Given the description of an element on the screen output the (x, y) to click on. 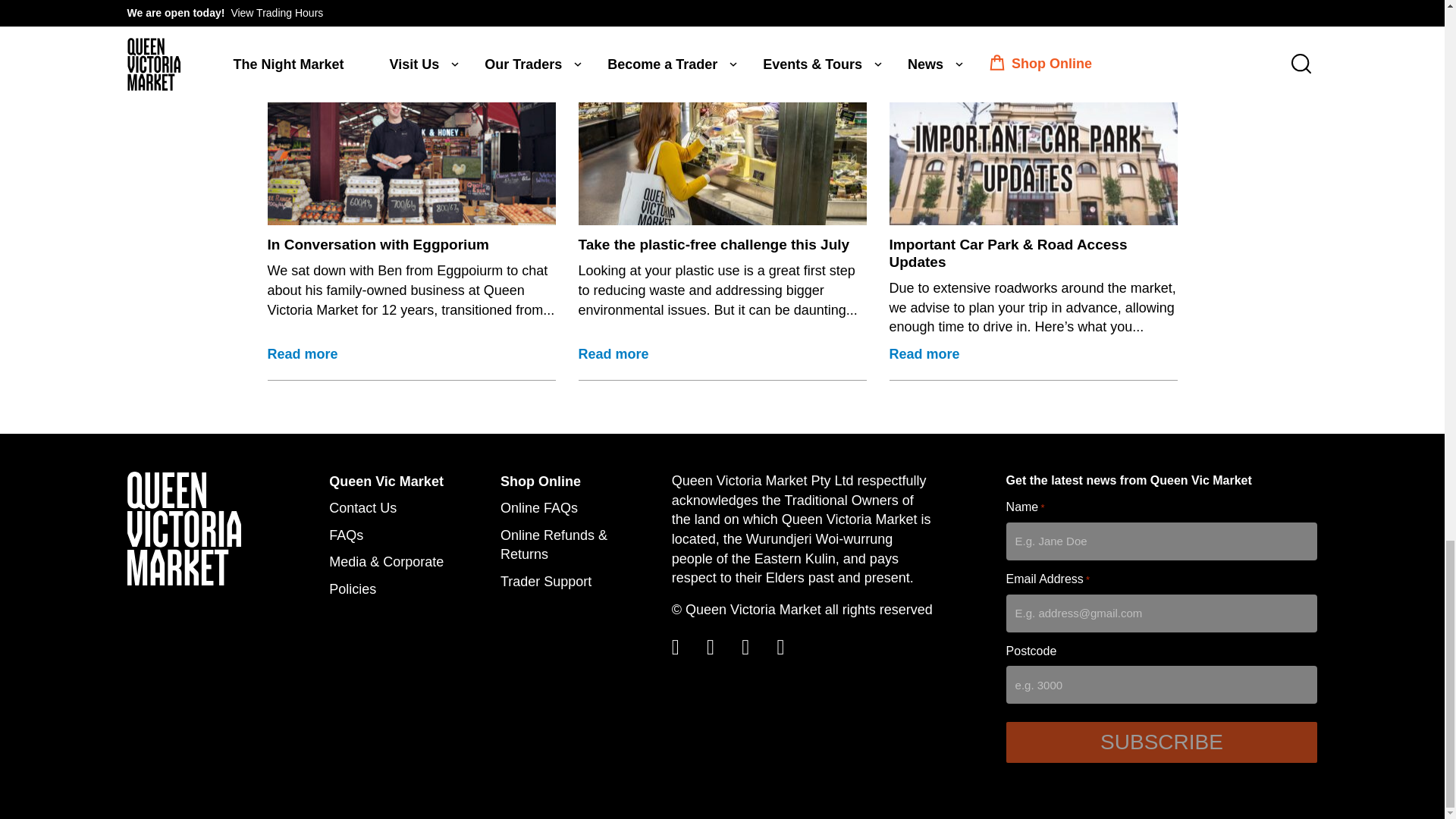
Subscribe (1161, 741)
